Given the description of an element on the screen output the (x, y) to click on. 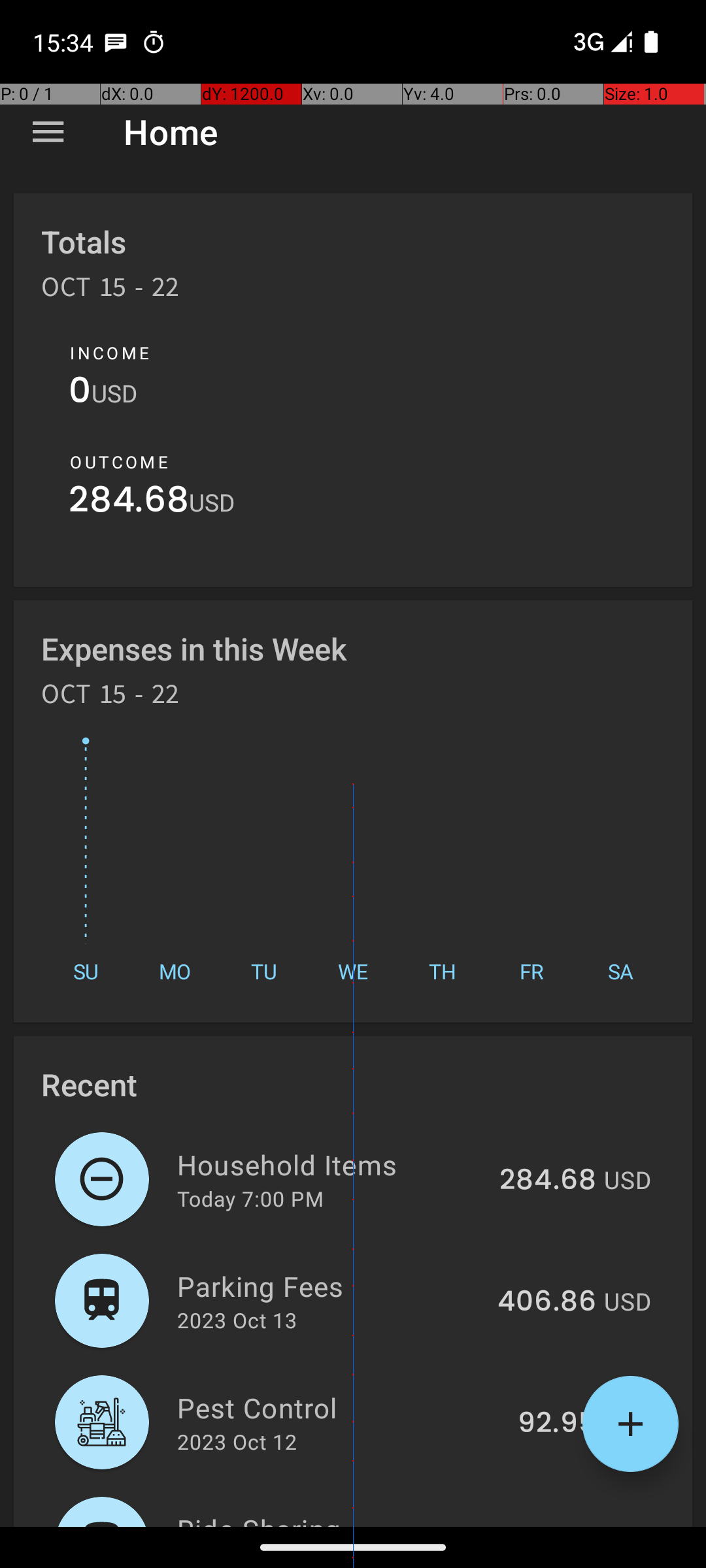
284.68 Element type: android.widget.TextView (128, 502)
Household Items Element type: android.widget.TextView (330, 1164)
Parking Fees Element type: android.widget.TextView (329, 1285)
406.86 Element type: android.widget.TextView (546, 1301)
92.95 Element type: android.widget.TextView (556, 1423)
231.5 Element type: android.widget.TextView (561, 1524)
